Given the description of an element on the screen output the (x, y) to click on. 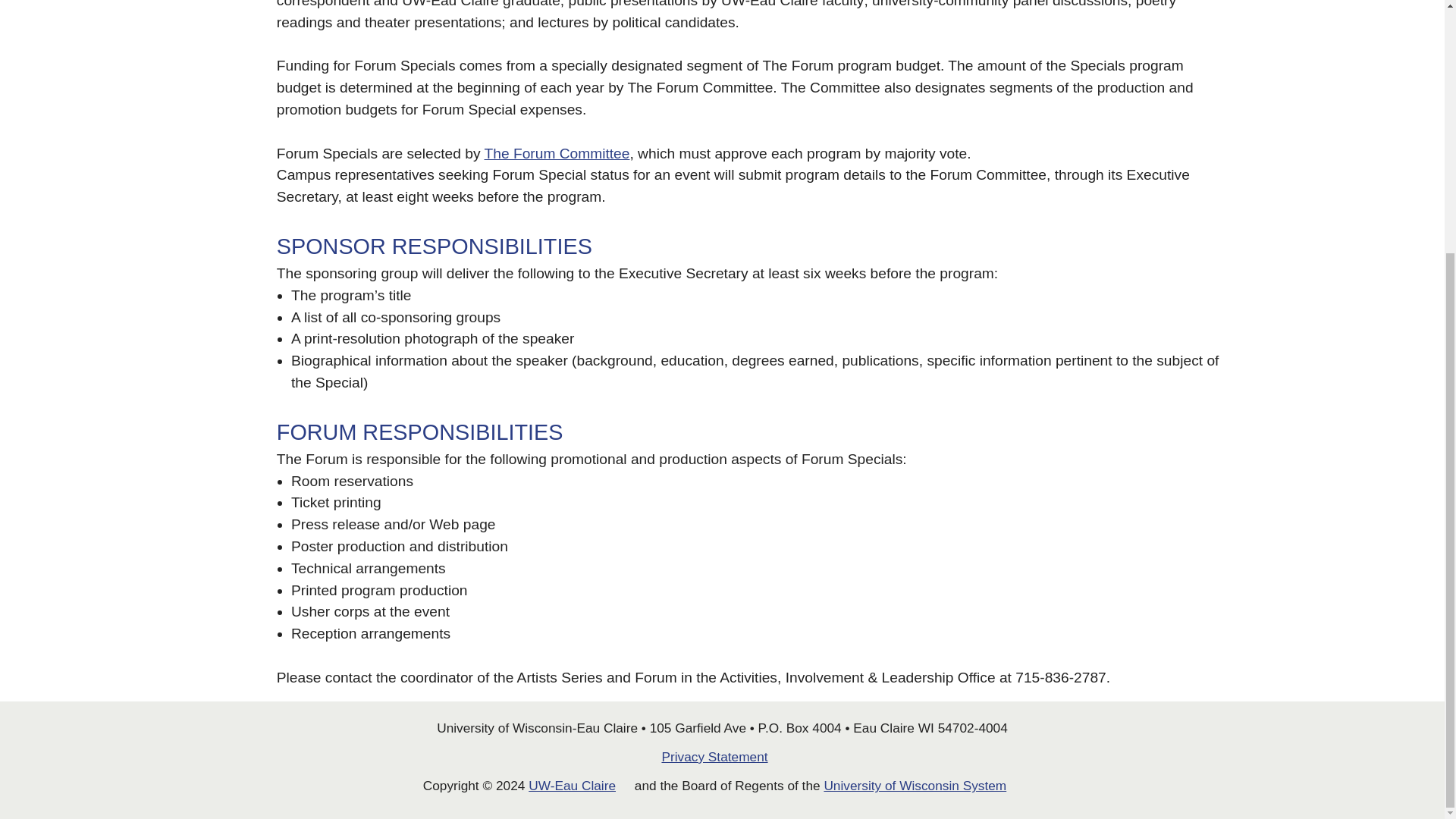
Privacy Statement (722, 756)
The Forum Committee (557, 153)
University of Wisconsin System (923, 785)
UW-Eau Claire (579, 785)
